Given the description of an element on the screen output the (x, y) to click on. 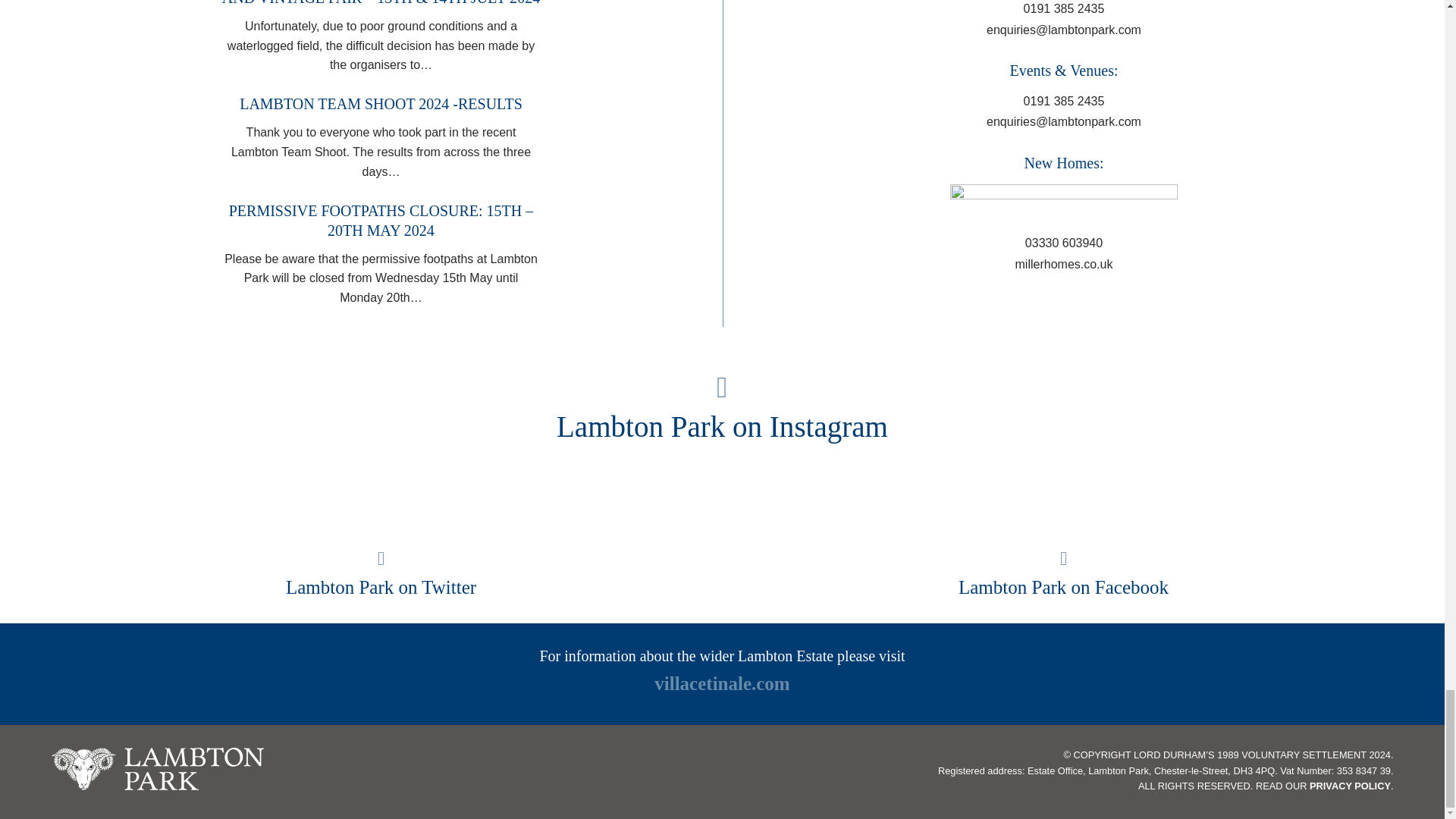
0191 385 2435 (1064, 10)
millerhomes.co.uk (1063, 265)
03330 603940 (1063, 243)
Lambton Park on Instagram (721, 409)
0191 385 2435 (1064, 102)
